Given the description of an element on the screen output the (x, y) to click on. 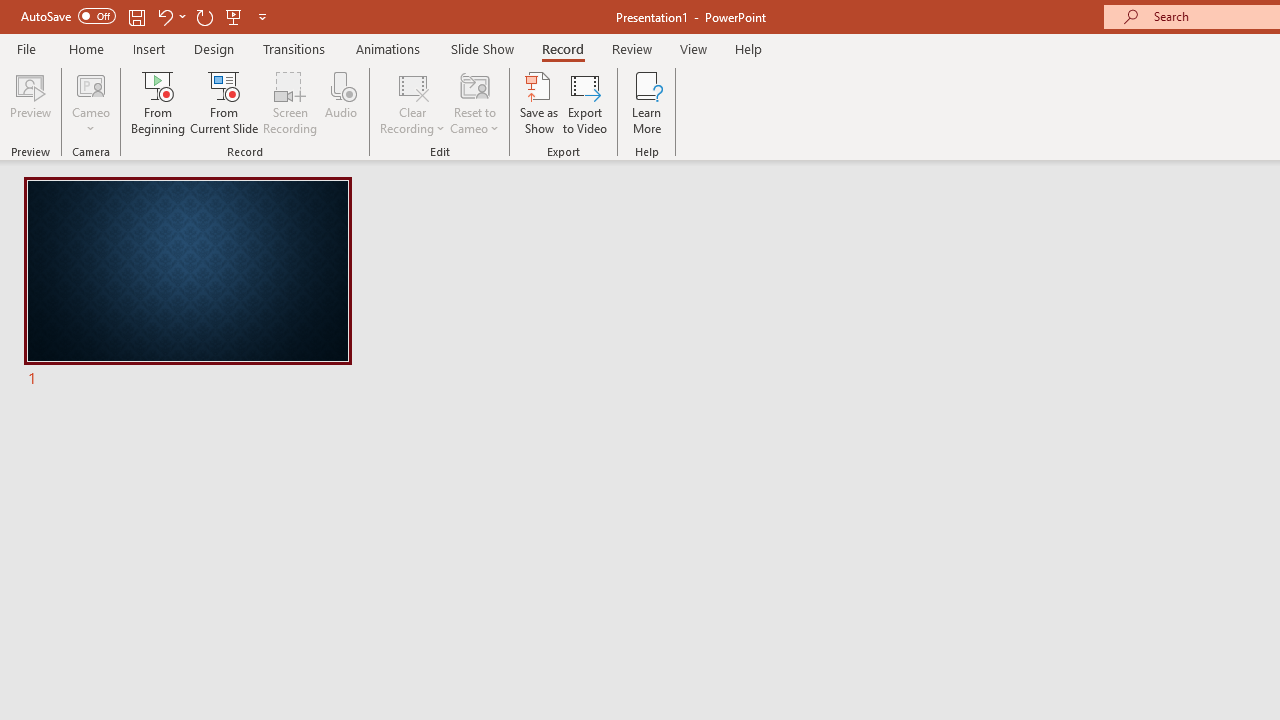
Export to Video (585, 102)
Screen Recording (290, 102)
